Given the description of an element on the screen output the (x, y) to click on. 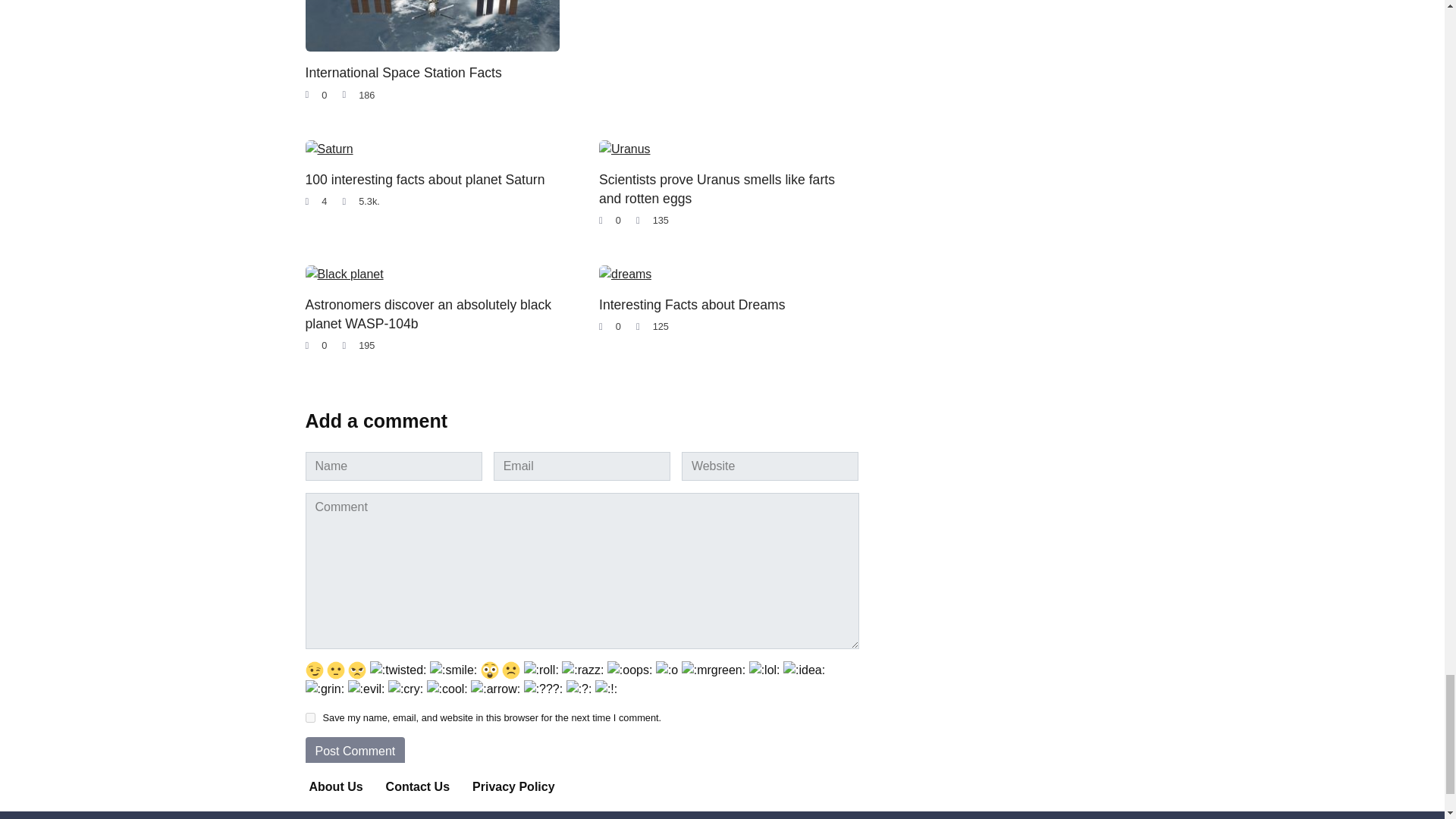
100 interesting facts about planet Saturn (424, 179)
Astronomers discover an absolutely black planet WASP-104b (427, 313)
Scientists prove Uranus smells like farts and rotten eggs (716, 188)
yes (309, 717)
International Space Station Facts (402, 72)
Post Comment (354, 751)
